Given the description of an element on the screen output the (x, y) to click on. 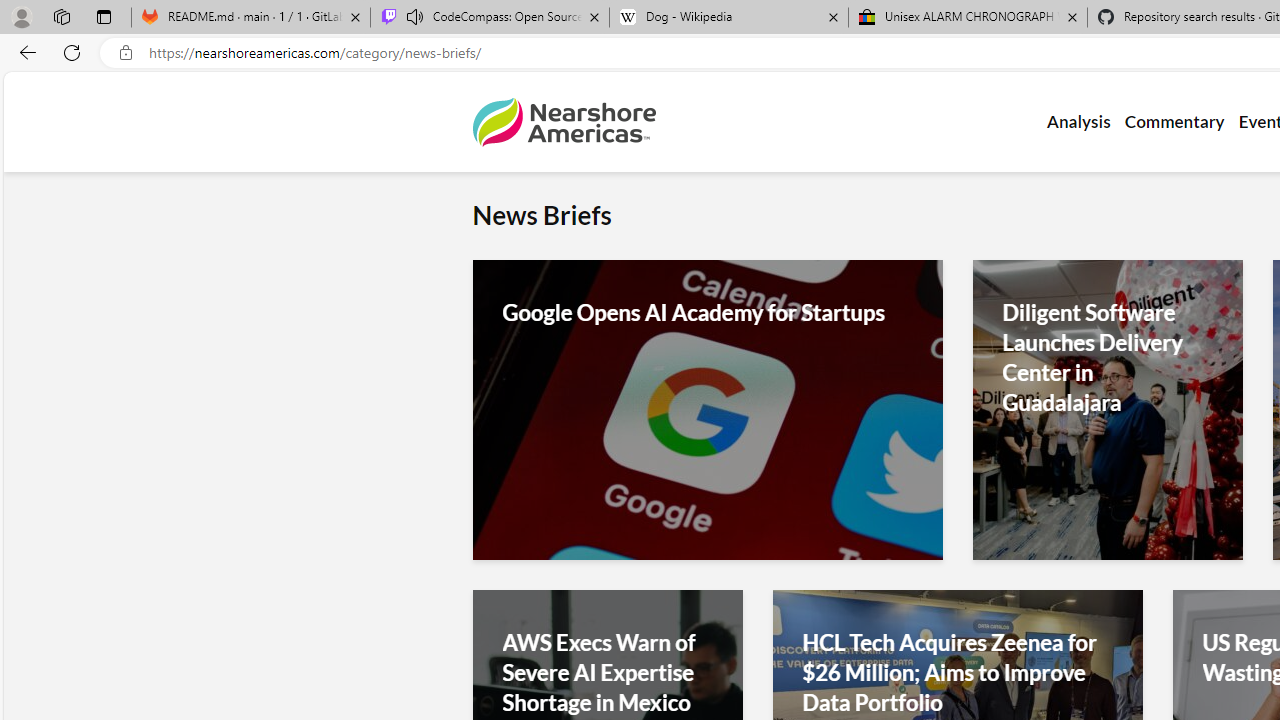
Dog - Wikipedia (729, 17)
Analysis (1078, 121)
Commentary (1174, 121)
Diligent Software Launches Delivery Center in Guadalajara (1107, 358)
